Given the description of an element on the screen output the (x, y) to click on. 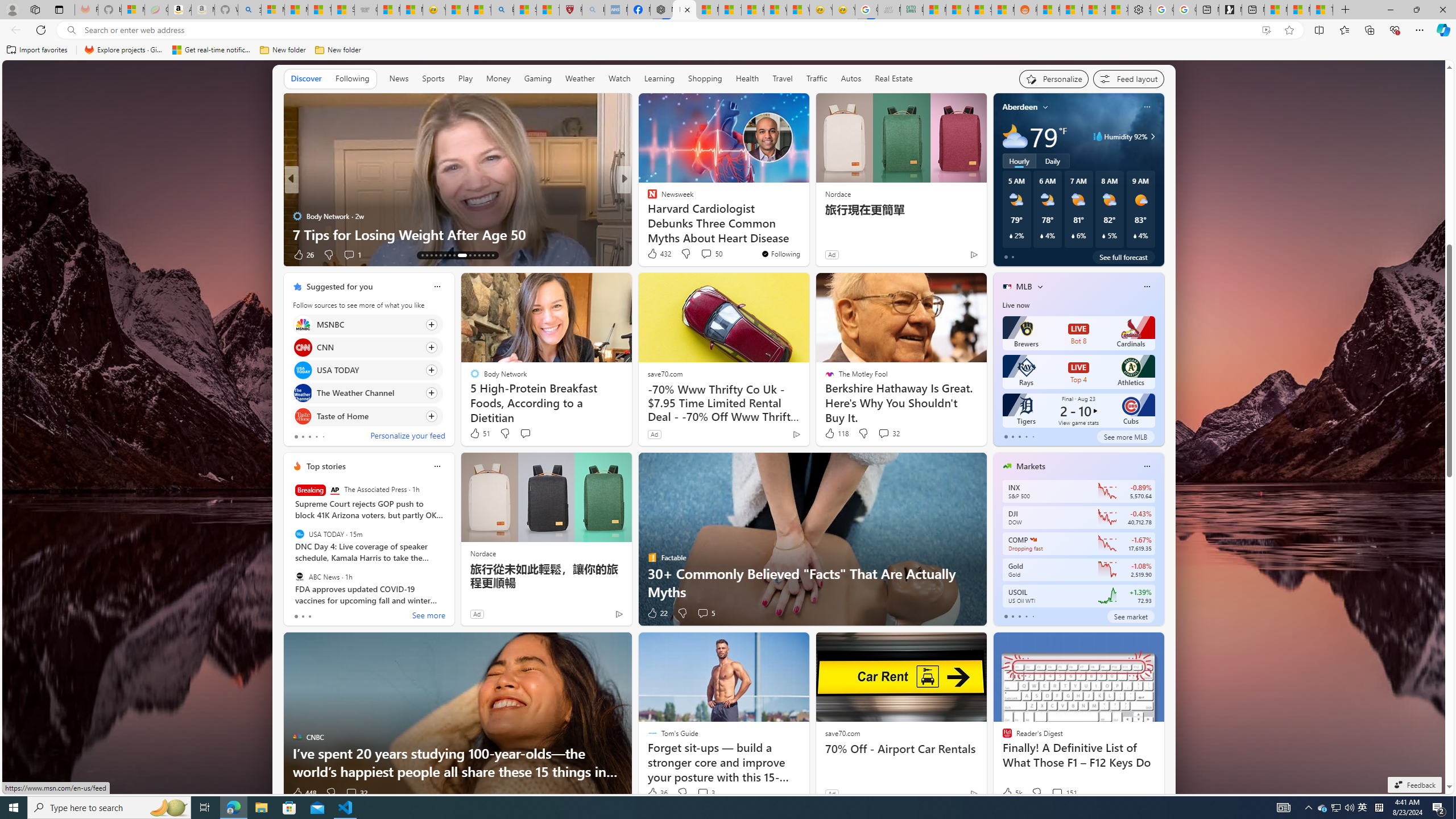
View comments 6 Comment (705, 254)
Body Network (296, 215)
451 Like (654, 254)
DITOGAMES AG Imprint (911, 9)
The Associated Press (334, 490)
Ad Choice (972, 793)
View comments 5 Comment (703, 613)
View comments 50 Comment (705, 253)
Rays LIVE Top 4 Athletics (1077, 371)
New folder (337, 49)
Science - MSN (525, 9)
